Given the description of an element on the screen output the (x, y) to click on. 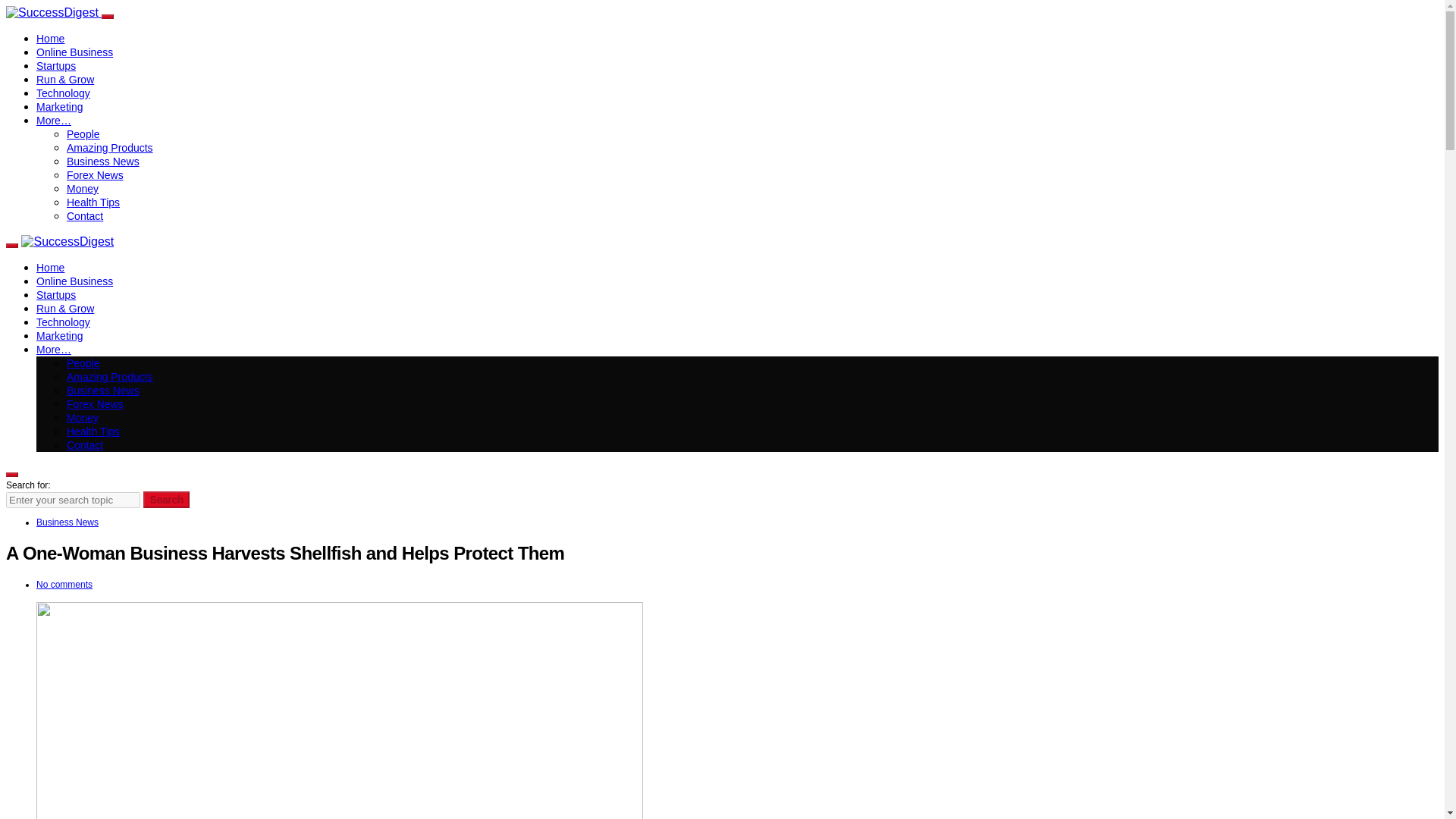
Online Business (74, 281)
People (83, 363)
Money (82, 188)
Business News (102, 161)
Technology (63, 92)
Money (82, 417)
No comments (64, 584)
Amazing Products (109, 377)
Health Tips (92, 202)
Contact (84, 215)
Business News (102, 390)
Search (165, 499)
Forex News (94, 404)
Home (50, 38)
People (83, 133)
